Given the description of an element on the screen output the (x, y) to click on. 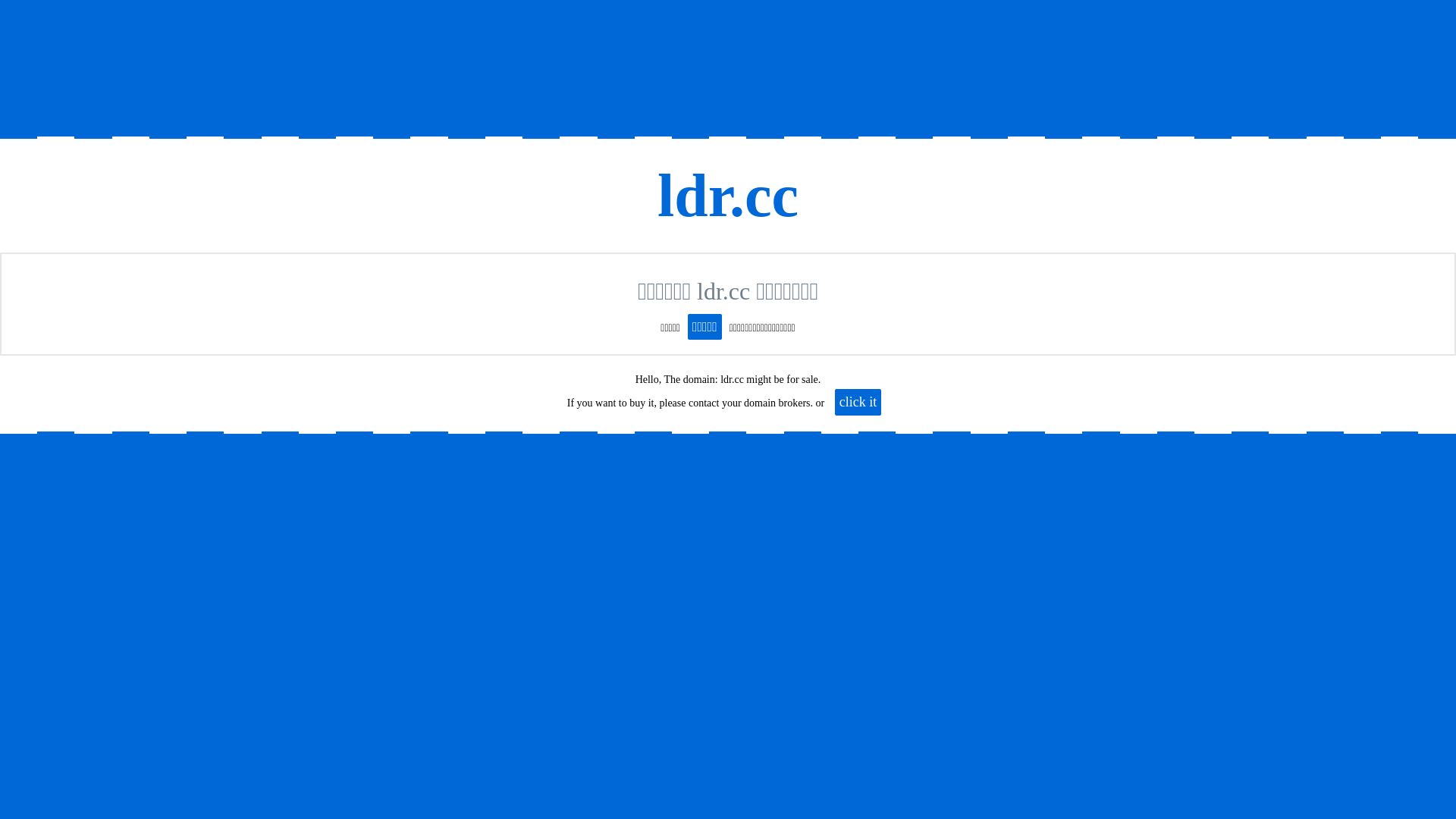
click it Element type: text (857, 402)
